Given the description of an element on the screen output the (x, y) to click on. 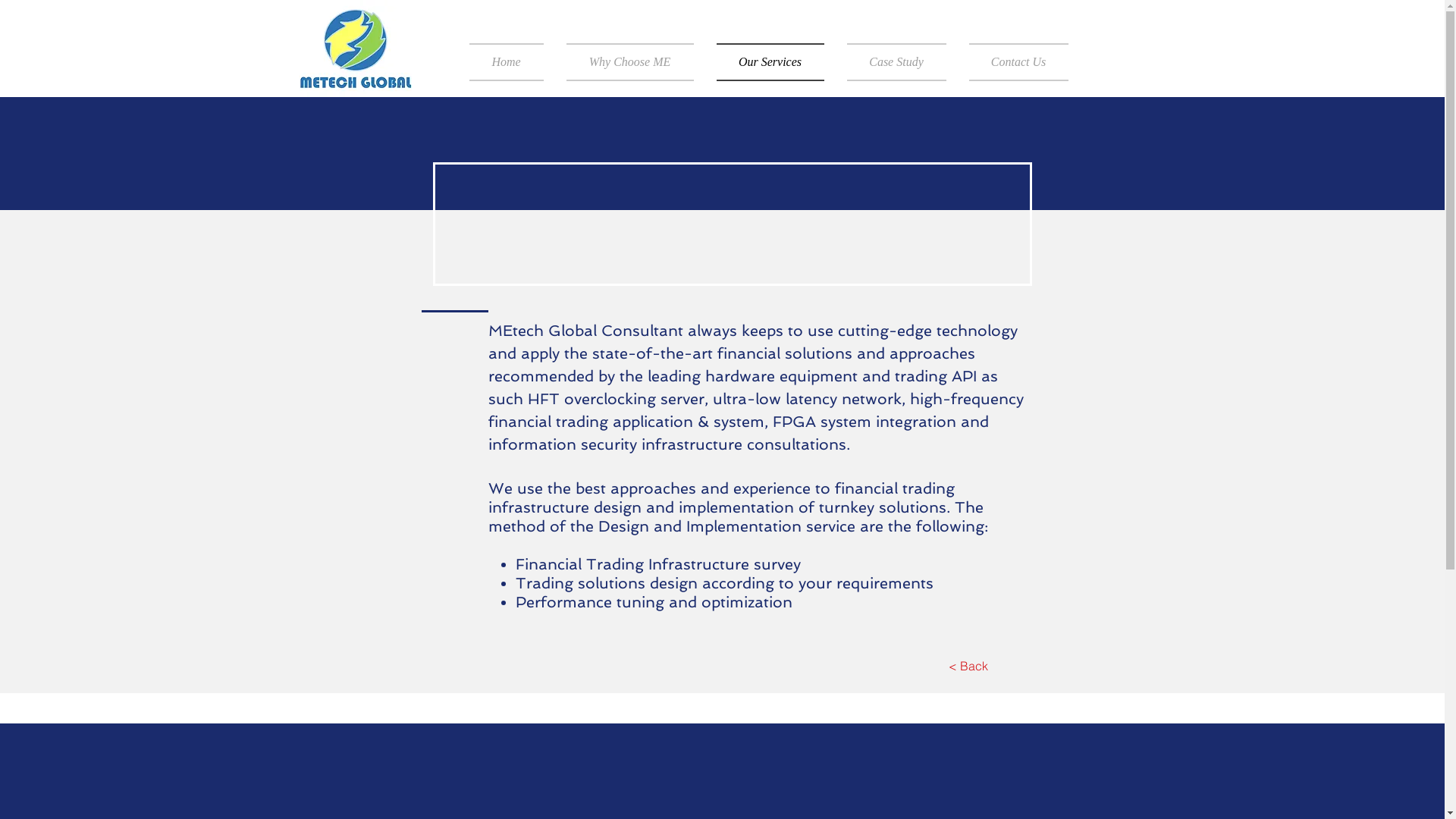
Home Element type: text (511, 62)
< Back Element type: text (968, 665)
Case Study Element type: text (896, 62)
Why Choose ME Element type: text (630, 62)
Our Services Element type: text (770, 62)
Contact Us Element type: text (1012, 62)
